Given the description of an element on the screen output the (x, y) to click on. 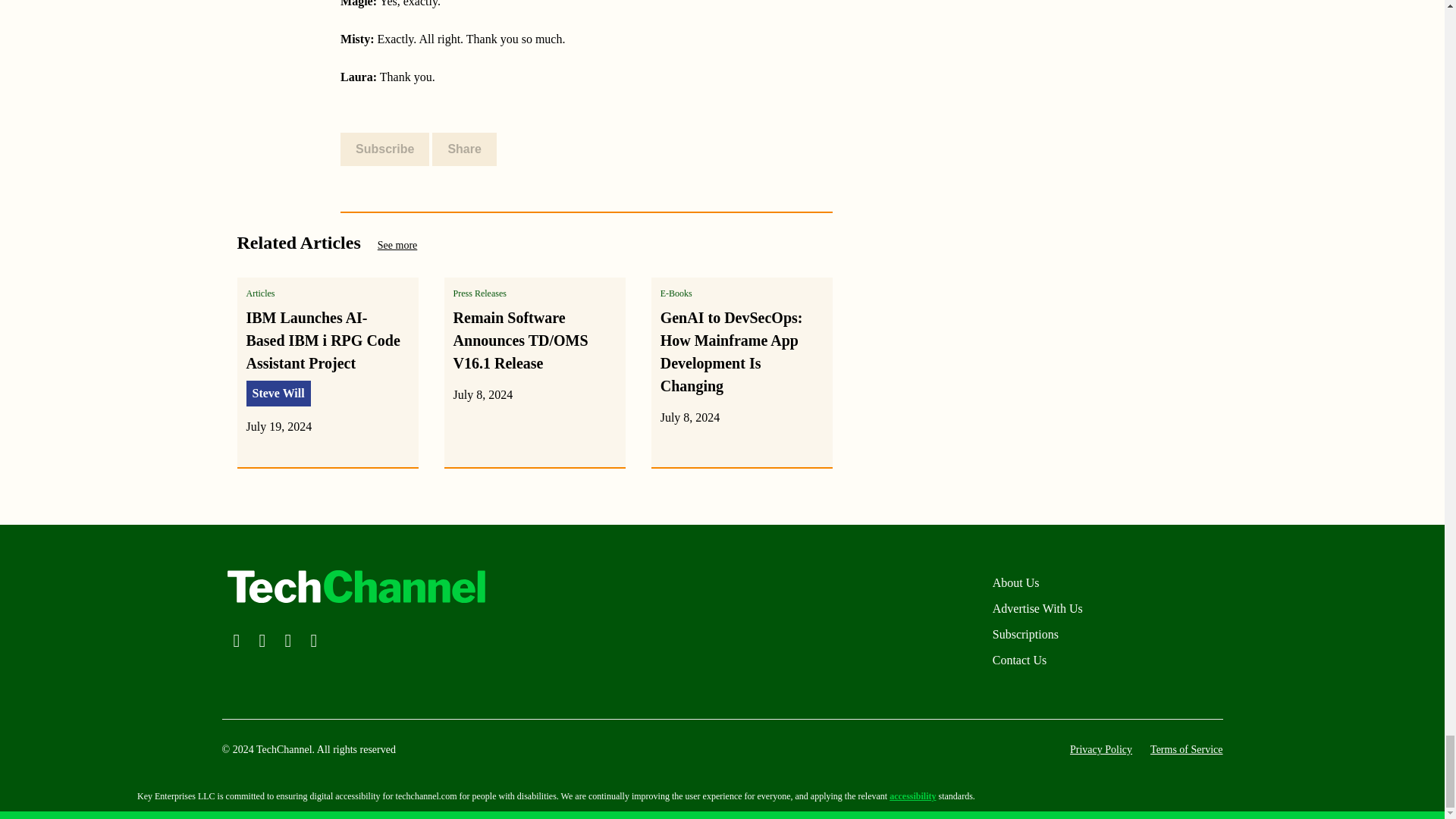
Copy Page URL (479, 149)
